Given the description of an element on the screen output the (x, y) to click on. 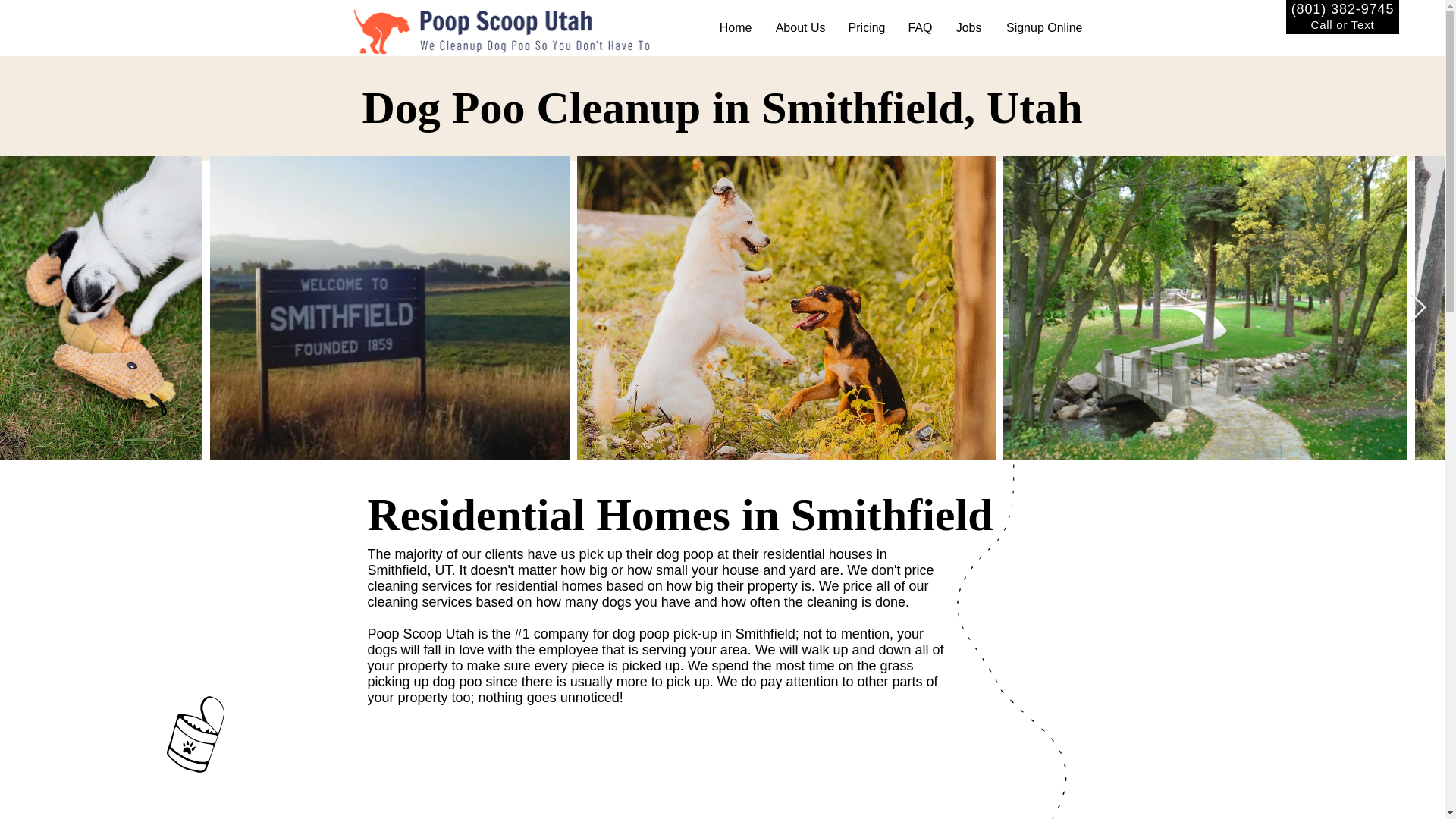
Home (734, 27)
Pricing (866, 27)
Jobs (967, 27)
Signup Online (1043, 27)
FAQ (919, 27)
About Us (798, 27)
